Given the description of an element on the screen output the (x, y) to click on. 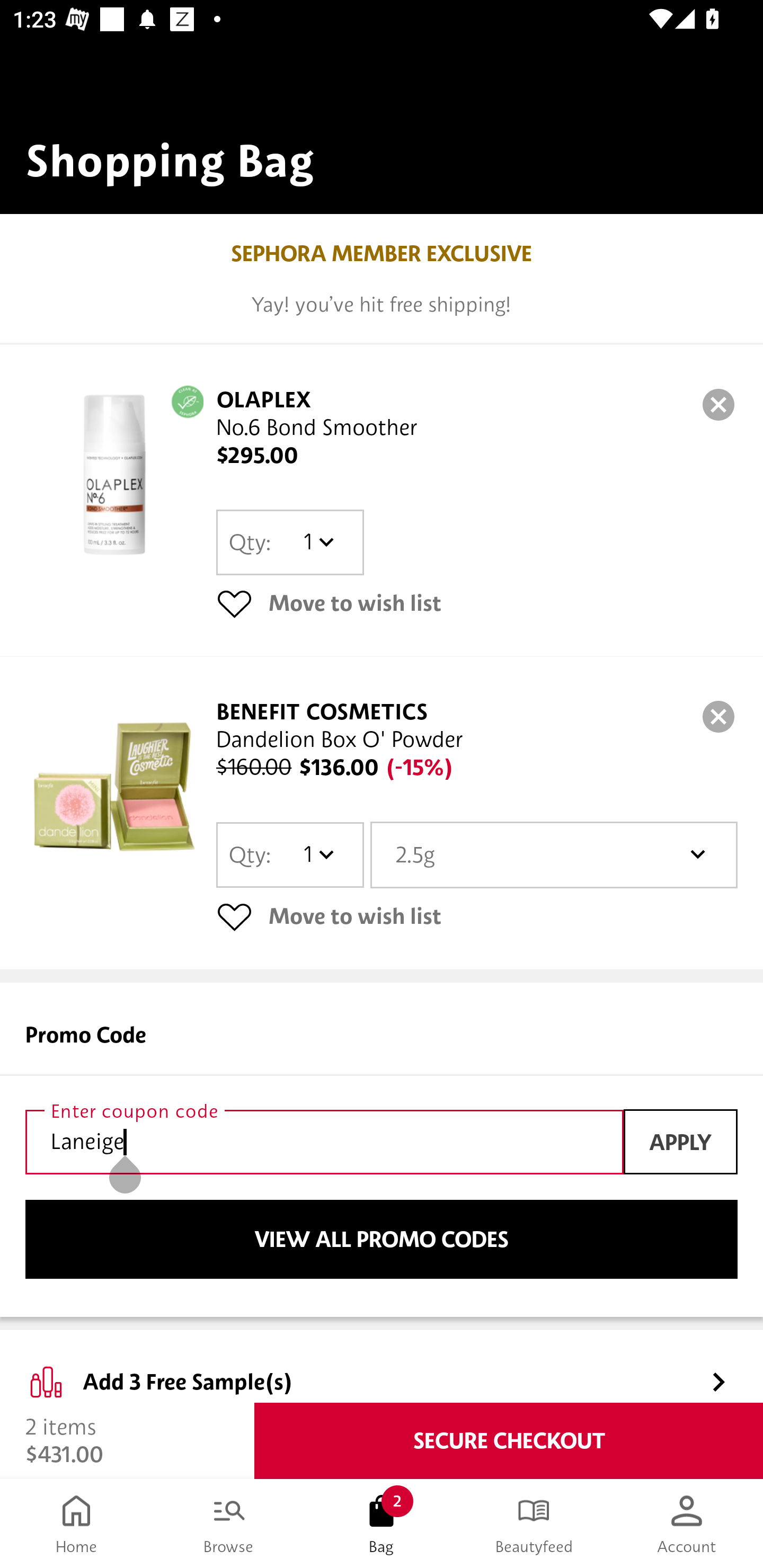
1 (317, 542)
Move to wish list (476, 602)
2.5g (553, 854)
1 (317, 854)
Move to wish list (476, 916)
Promo Code Laneige APPLY VIEW ALL PROMO CODES (381, 1150)
APPLY (680, 1141)
Laneige (324, 1142)
VIEW ALL PROMO CODES (381, 1239)
Add 3 Free Sample(s) (381, 1366)
SECURE CHECKOUT (508, 1440)
Home (76, 1523)
Browse (228, 1523)
Beautyfeed (533, 1523)
Account (686, 1523)
